Given the description of an element on the screen output the (x, y) to click on. 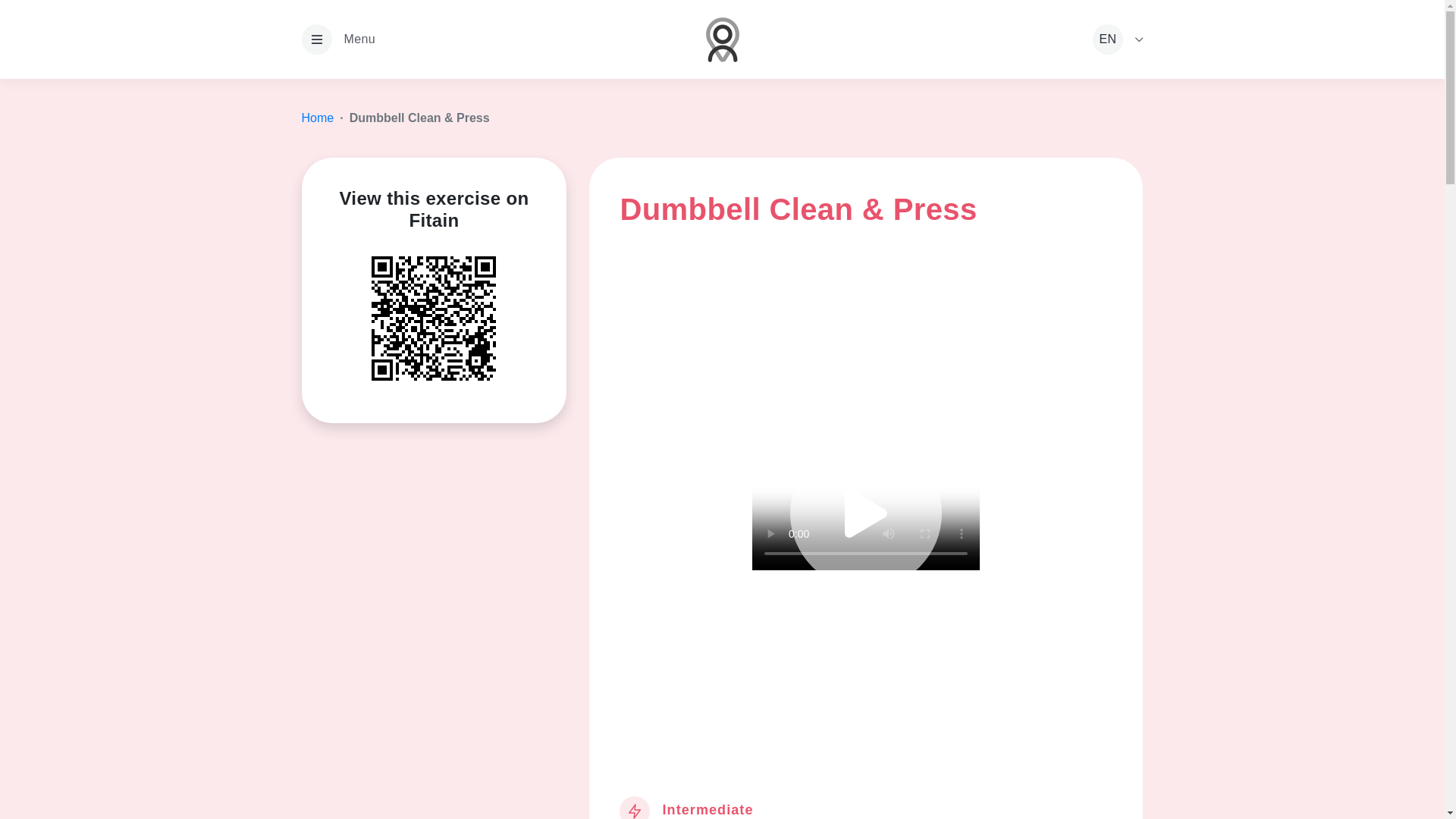
Home (317, 117)
EN (1117, 39)
Menu (338, 39)
